Given the description of an element on the screen output the (x, y) to click on. 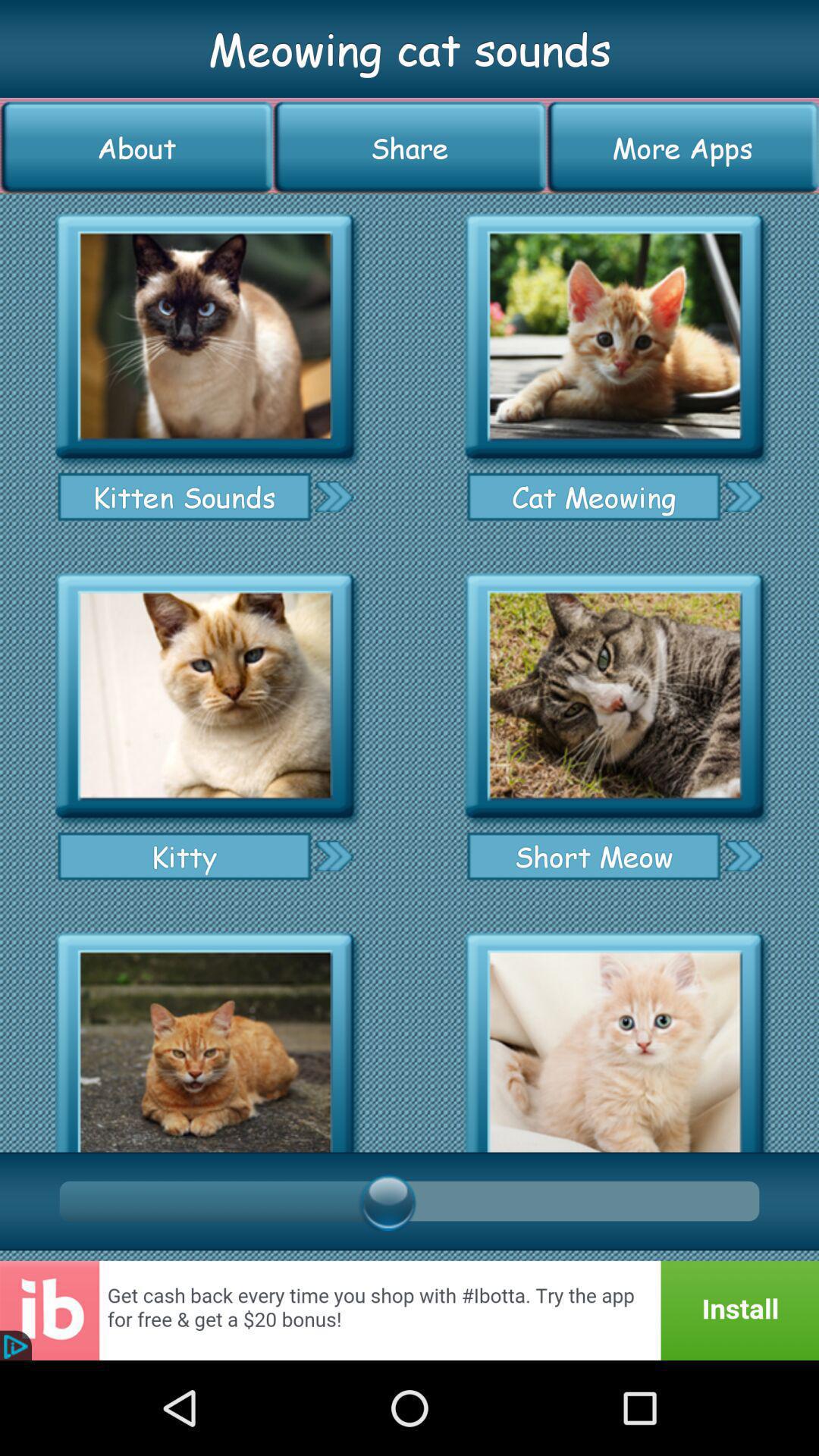
cat sound play button option (204, 1037)
